Given the description of an element on the screen output the (x, y) to click on. 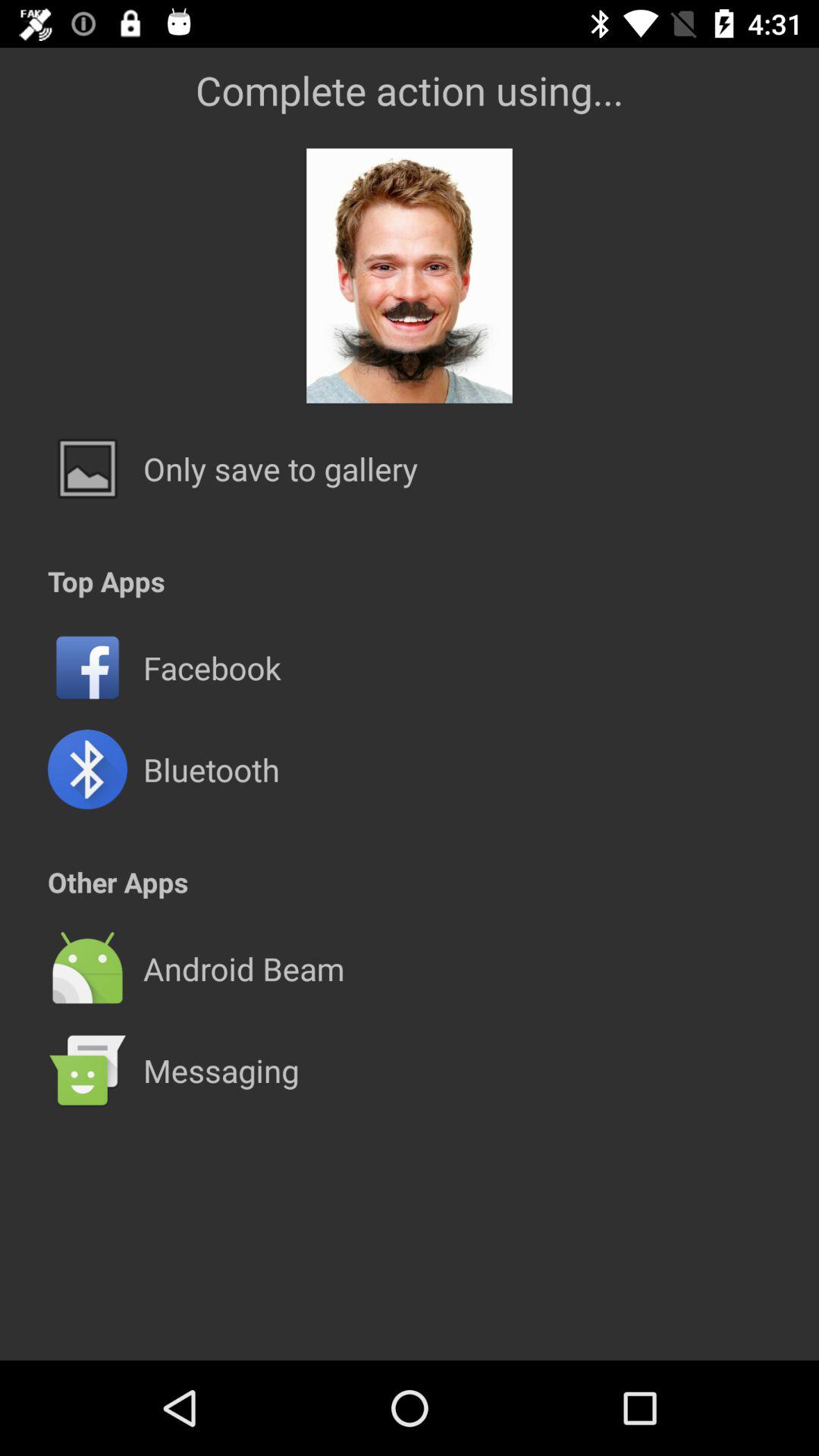
turn off the icon below other apps (409, 917)
